Given the description of an element on the screen output the (x, y) to click on. 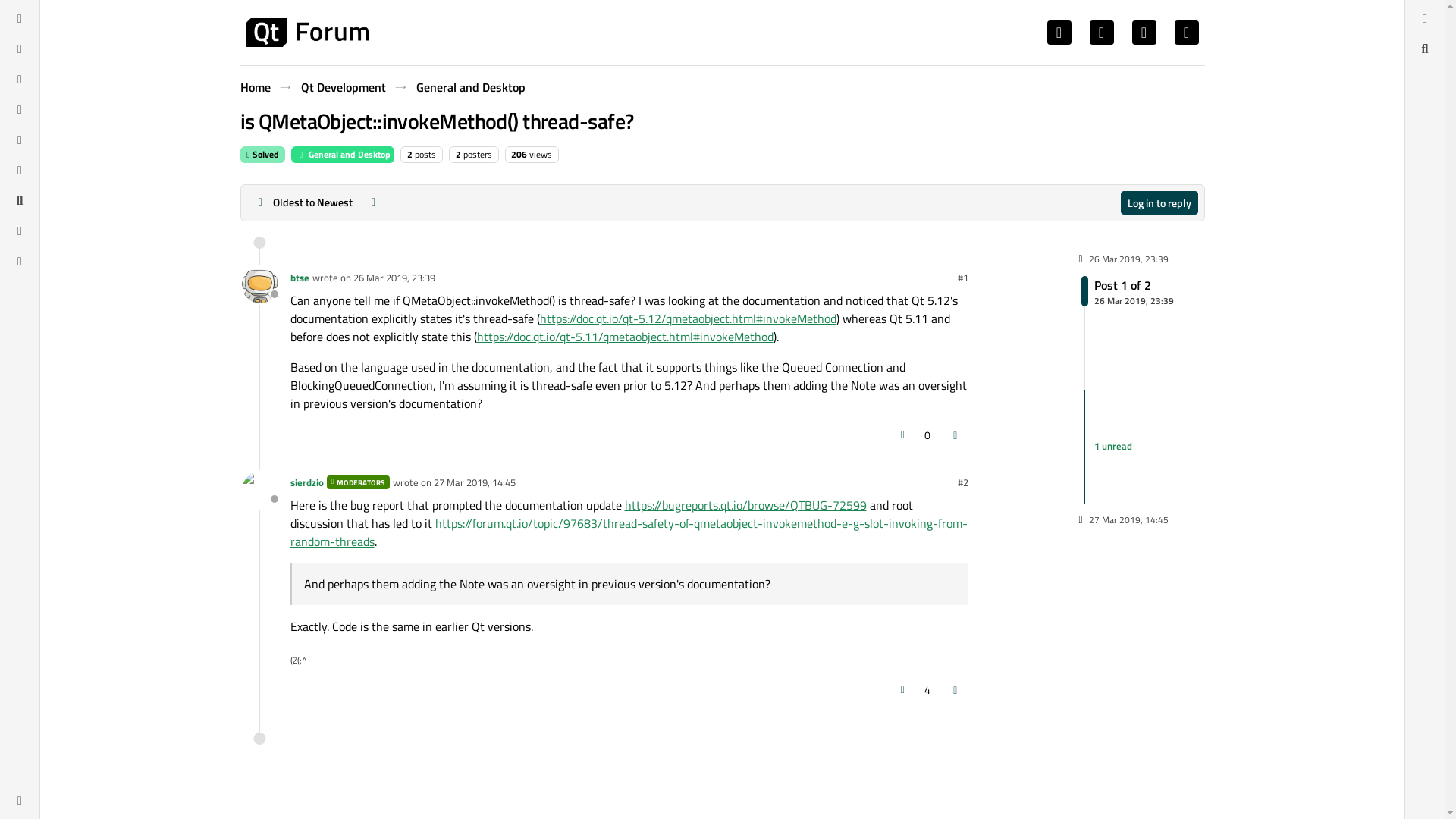
General and Desktop (342, 154)
Log in to reply (1159, 202)
26 Mar 2019, 23:39 (394, 277)
Voters (927, 435)
Upvote post (902, 435)
2 (409, 154)
btse (298, 277)
Oldest to Newest (303, 201)
Home (254, 86)
Qt Development (342, 86)
26 Mar 2019, 23:39 (394, 277)
Brand Logo (1127, 291)
206 (307, 32)
